Given the description of an element on the screen output the (x, y) to click on. 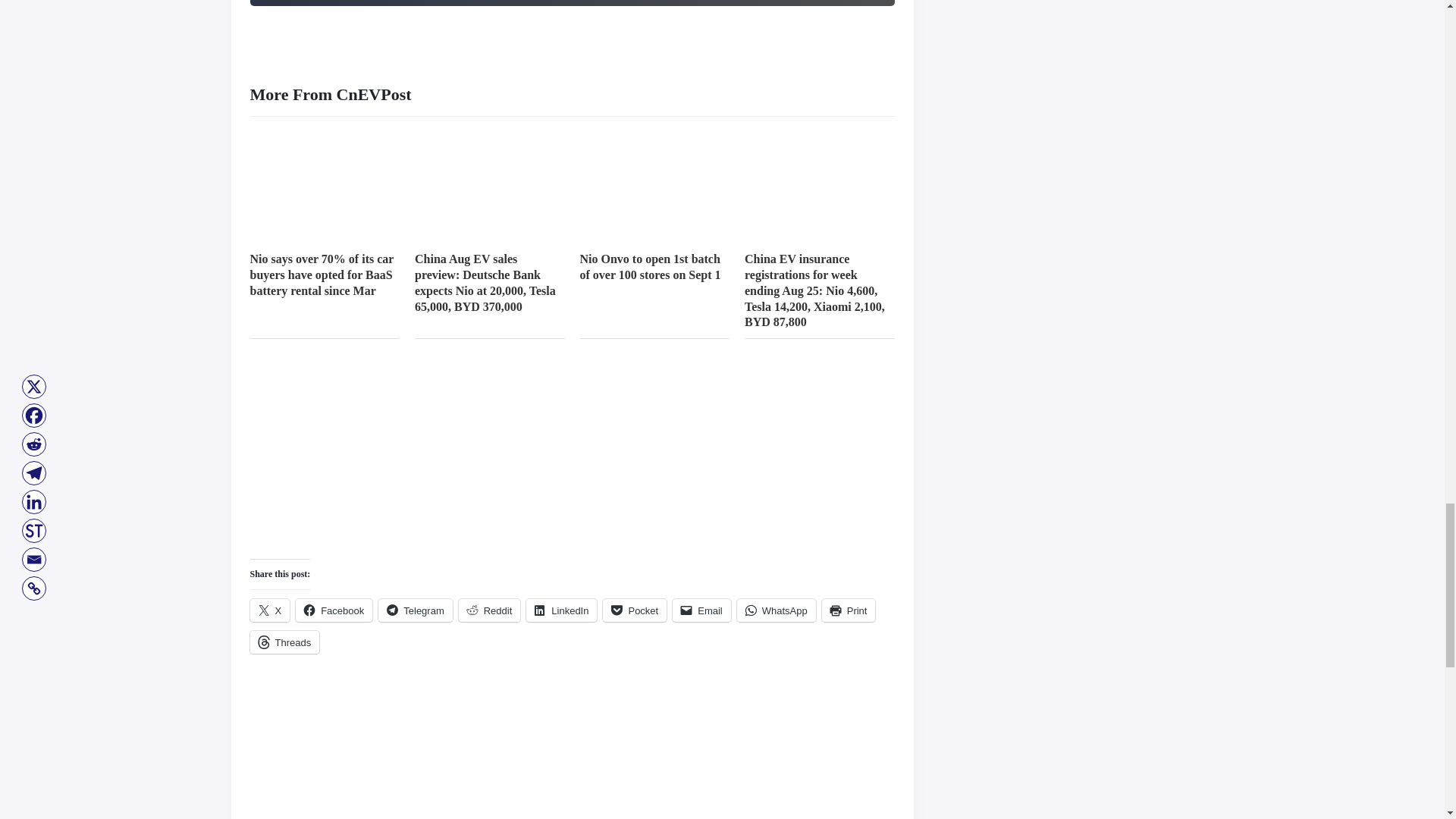
Click to share on Pocket (634, 609)
Click to print (849, 609)
Click to share on WhatsApp (775, 609)
Click to share on Telegram (414, 609)
Nio Onvo to open 1st batch of over 100 stores on Sept 1 (649, 266)
Click to email a link to a friend (701, 609)
Click to share on Threads (285, 641)
Click to share on Facebook (333, 609)
Click to share on Reddit (489, 609)
